Given the description of an element on the screen output the (x, y) to click on. 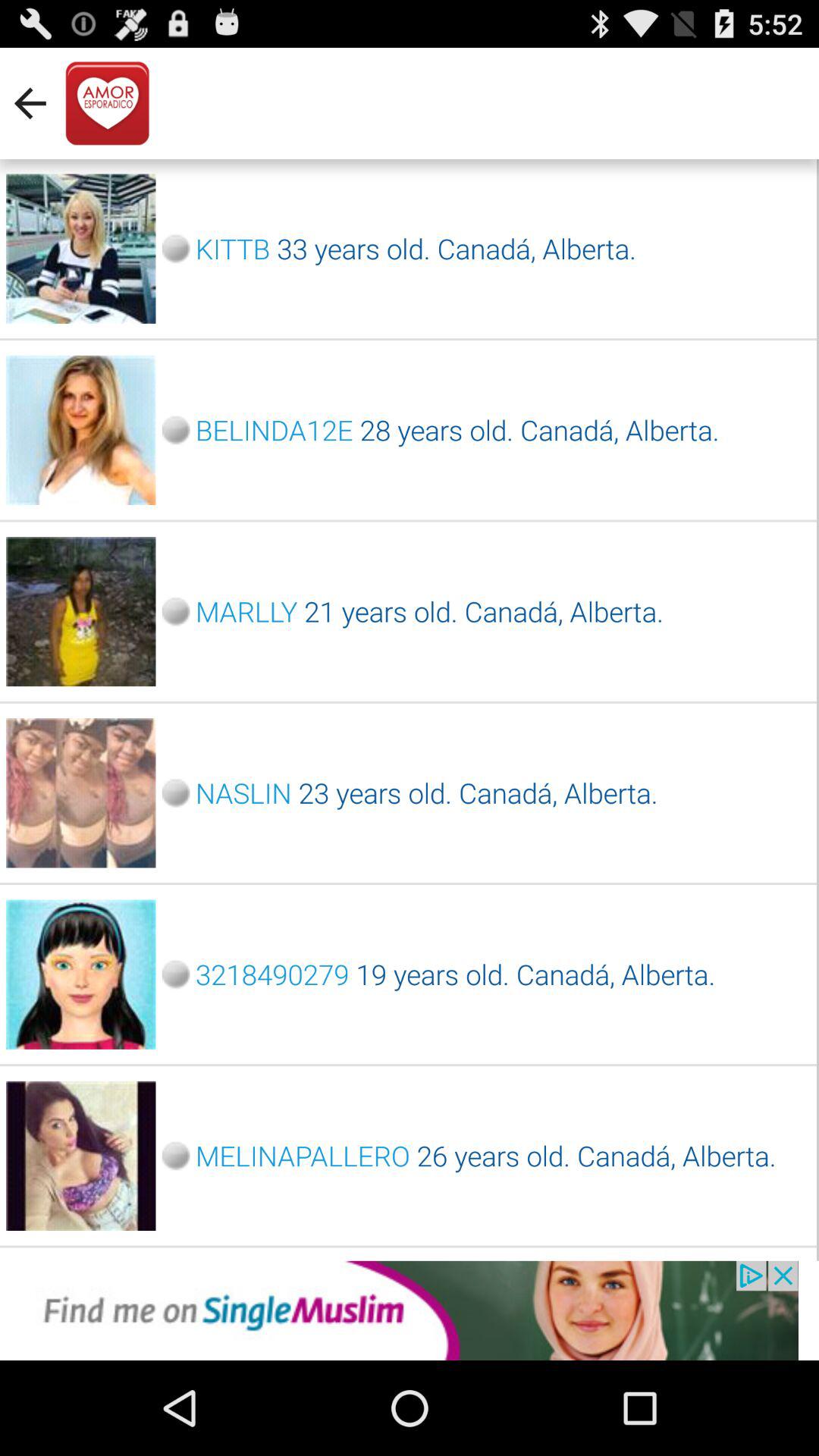
open advert (409, 1310)
